Given the description of an element on the screen output the (x, y) to click on. 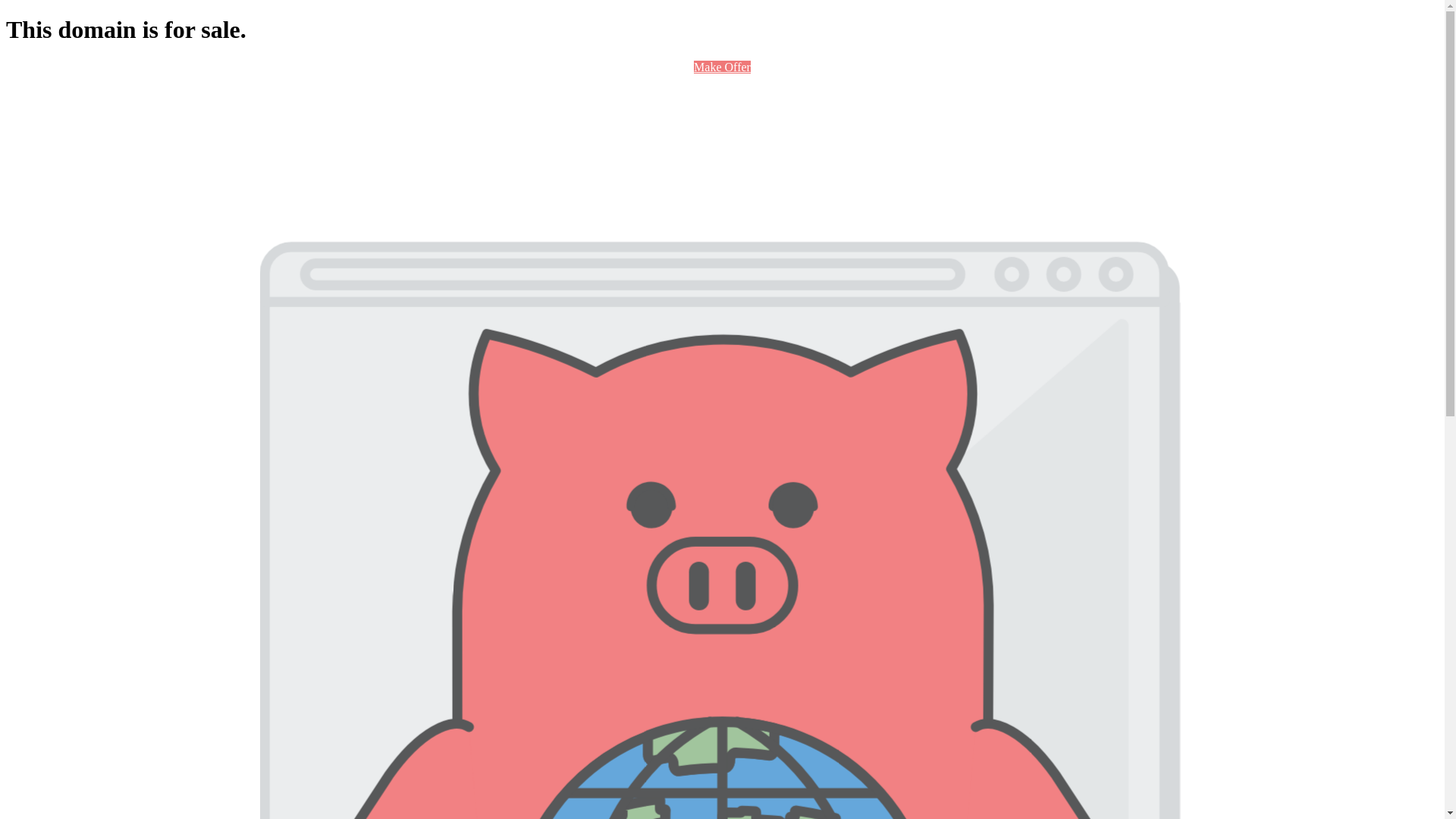
Make Offer (722, 66)
